Given the description of an element on the screen output the (x, y) to click on. 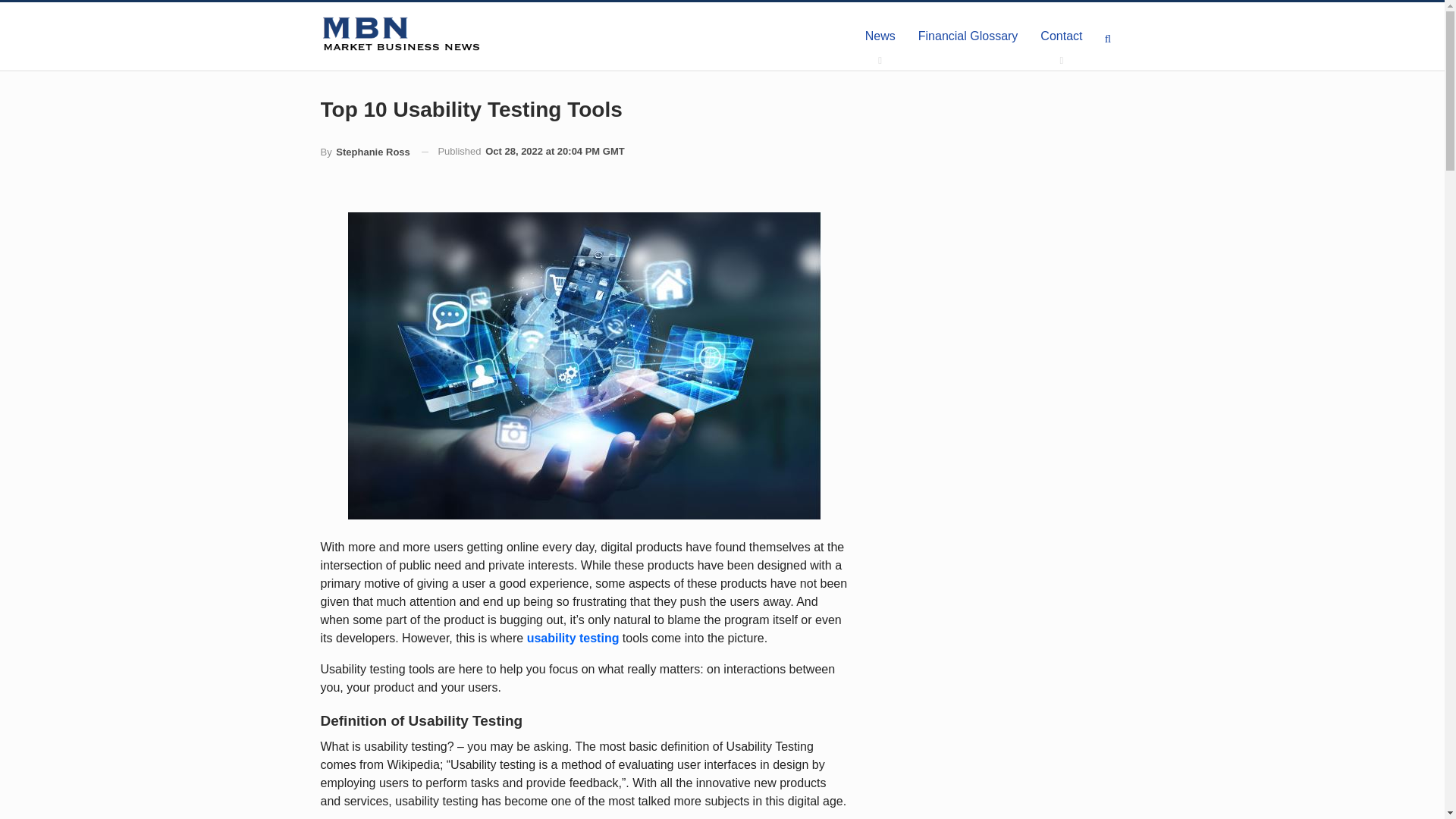
Contact (1061, 36)
By Stephanie Ross (364, 152)
usability testing (573, 637)
Browse Author Articles (364, 152)
Financial Glossary (968, 36)
